Given the description of an element on the screen output the (x, y) to click on. 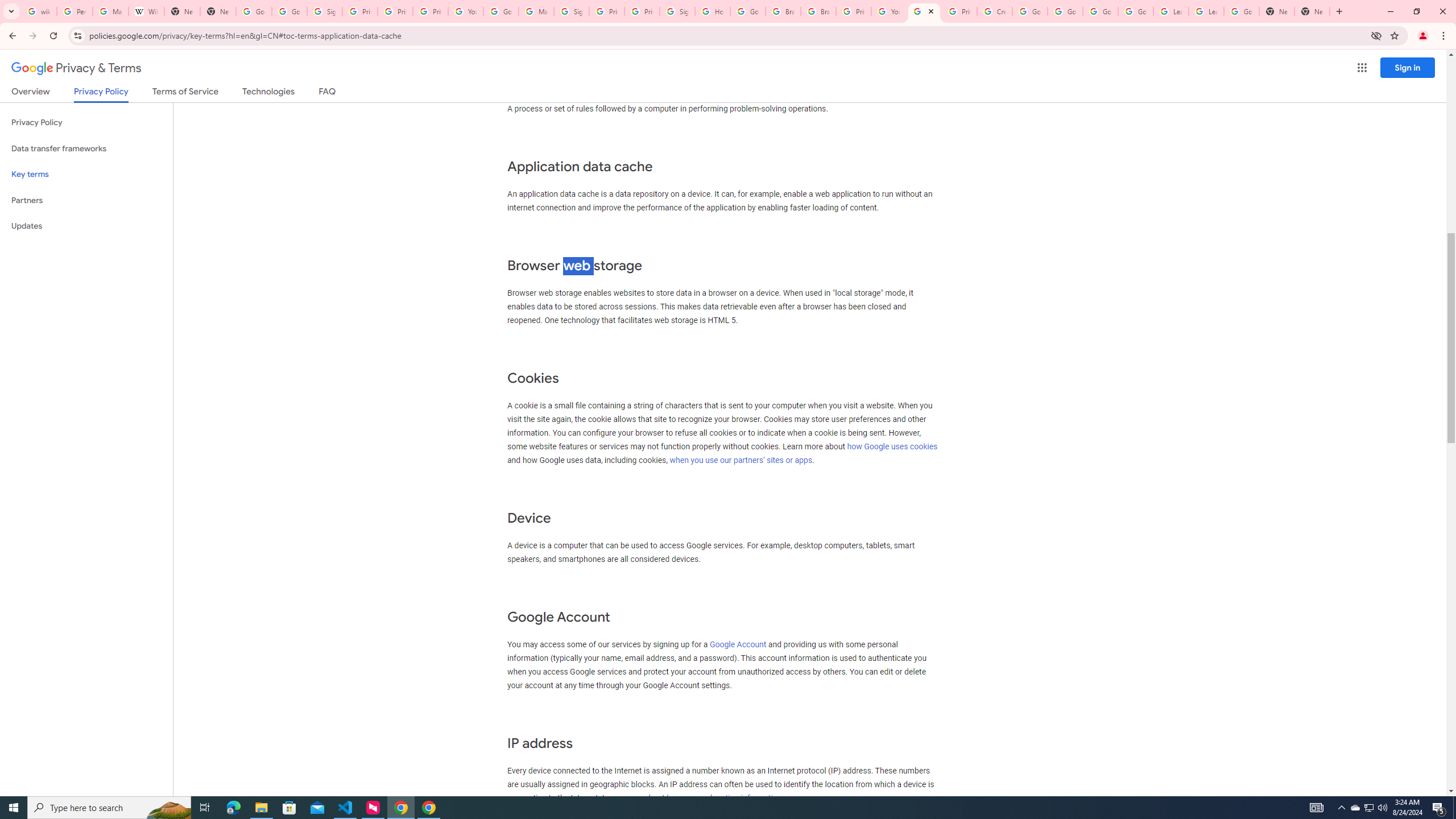
New Tab (1312, 11)
how we use location information. (725, 797)
how Google uses cookies (892, 446)
Google Account (738, 644)
Manage your Location History - Google Search Help (110, 11)
Brand Resource Center (817, 11)
when you use our partners' sites or apps (740, 460)
Google Account Help (1029, 11)
New Tab (1276, 11)
